Given the description of an element on the screen output the (x, y) to click on. 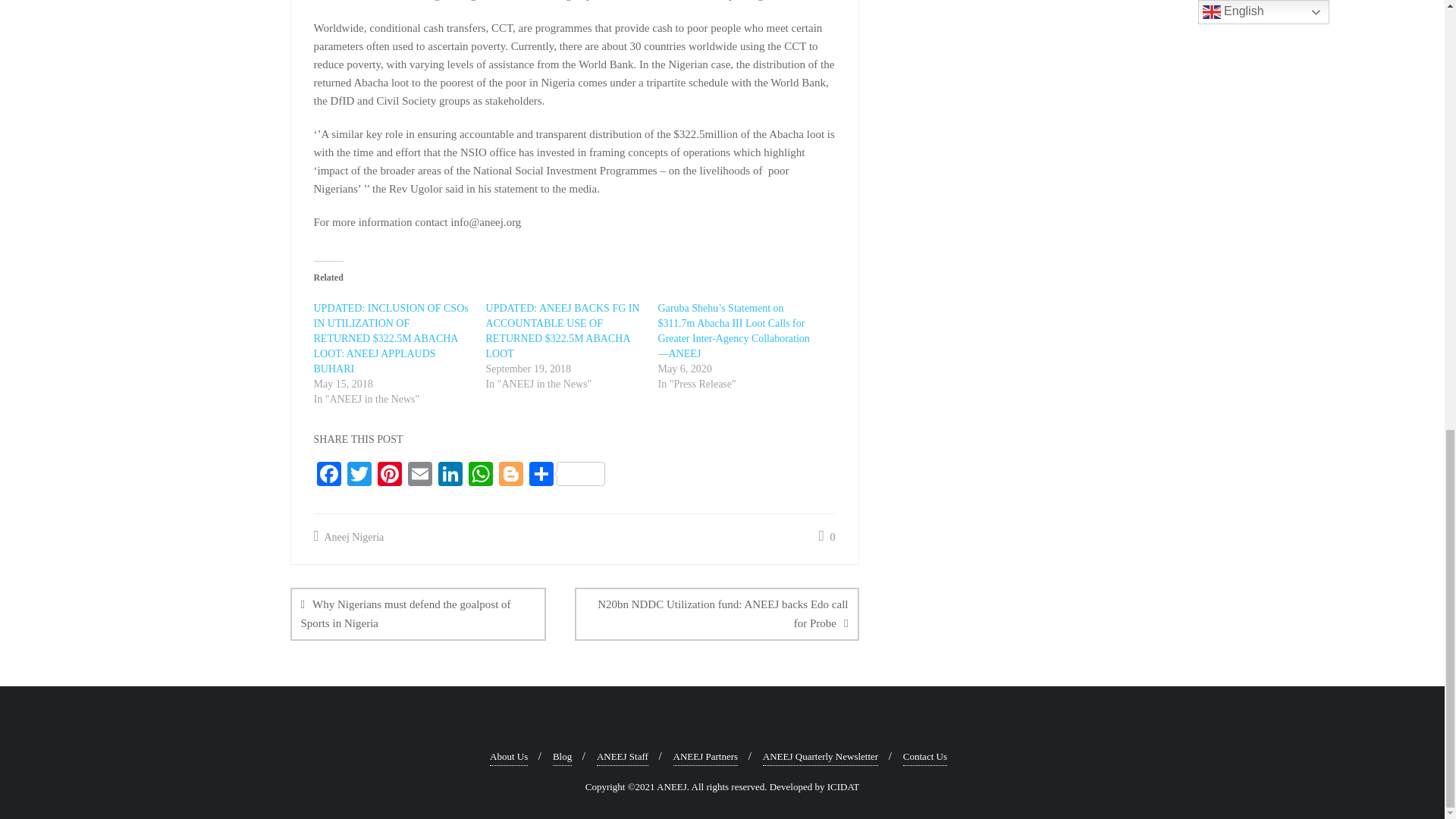
Email (419, 475)
Blogger (510, 475)
LinkedIn (450, 475)
Twitter (358, 475)
WhatsApp (480, 475)
Pinterest (389, 475)
Facebook (328, 475)
